Given the description of an element on the screen output the (x, y) to click on. 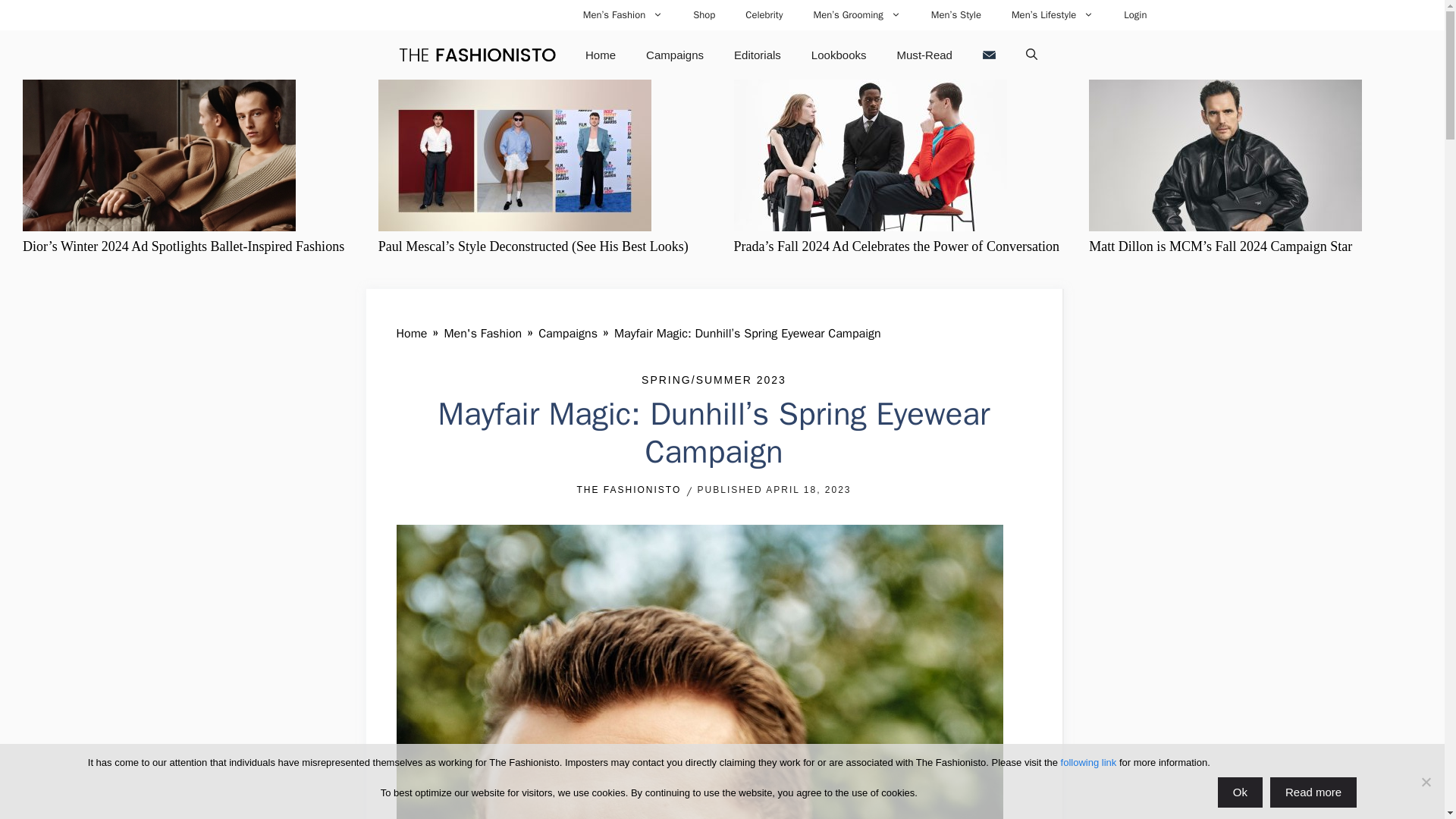
Shop (704, 15)
Campaigns (674, 53)
The Fashionisto (476, 54)
Lookbooks (839, 53)
Men's Fashion (482, 333)
Fashion Editorials (757, 53)
Must-Read (925, 53)
Login (1134, 15)
Subscribe (989, 53)
Login (1134, 15)
Home (600, 53)
Home (411, 333)
Editorials (757, 53)
Fashion Advertising Campaigns (674, 53)
